Given the description of an element on the screen output the (x, y) to click on. 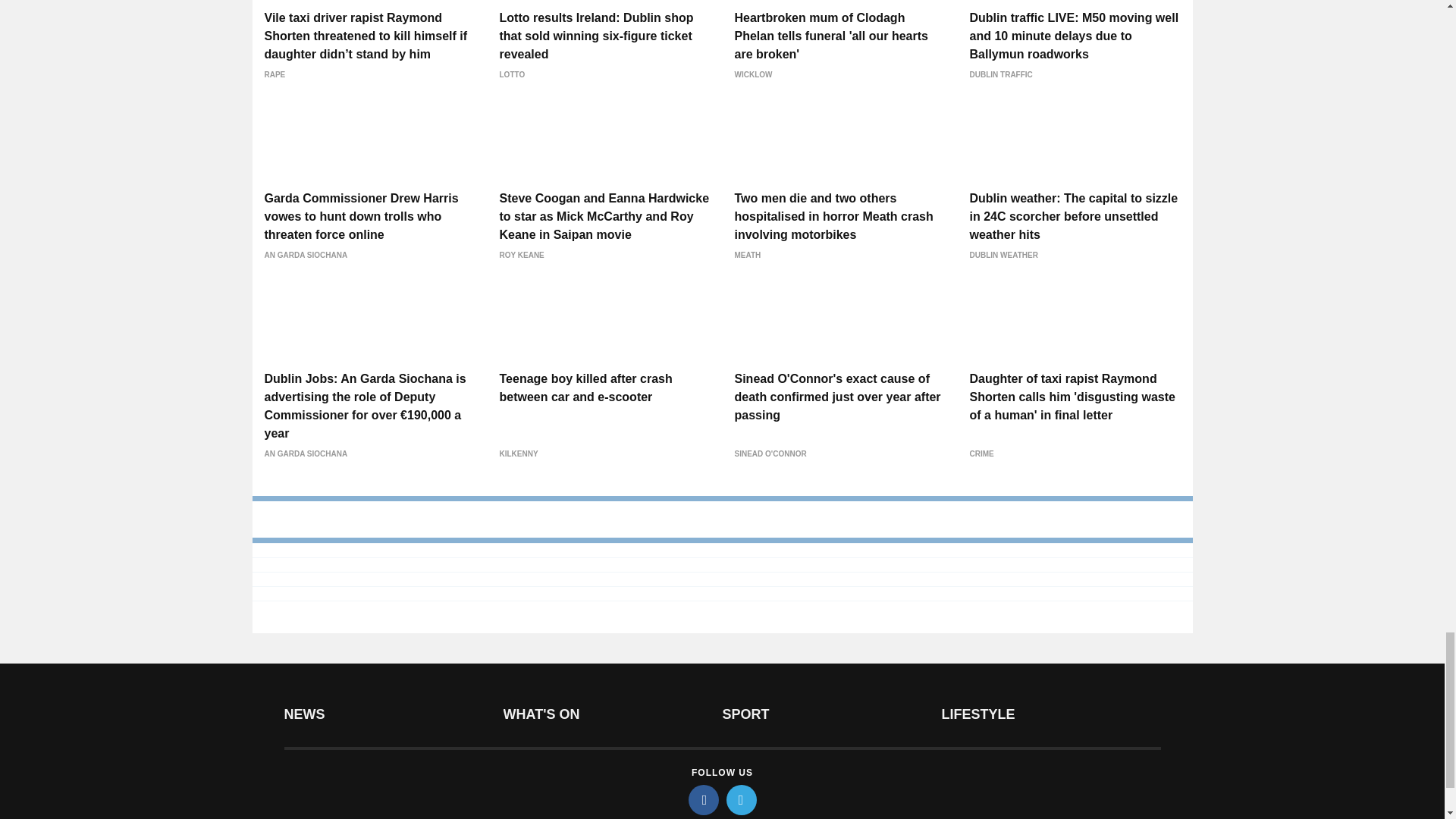
facebook (703, 799)
twitter (741, 799)
